Given the description of an element on the screen output the (x, y) to click on. 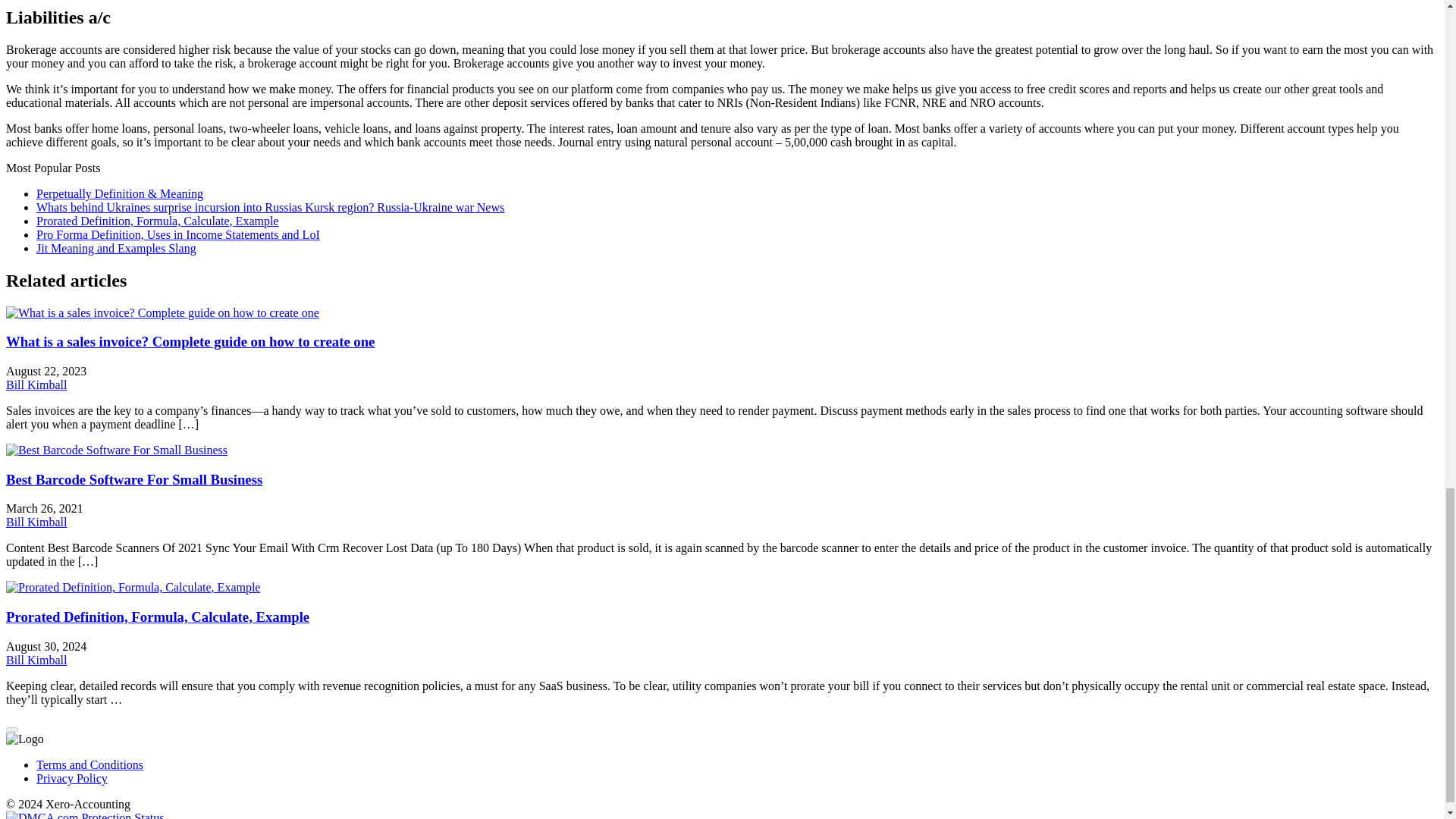
Jit Meaning and Examples Slang (116, 247)
Terms and Conditions (89, 764)
Privacy Policy (71, 778)
Bill Kimball (35, 659)
Bill Kimball (35, 384)
Prorated Definition, Formula, Calculate, Example (157, 220)
Bill Kimball (35, 521)
Pro Forma Definition, Uses in Income Statements and LoI (178, 234)
